Given the description of an element on the screen output the (x, y) to click on. 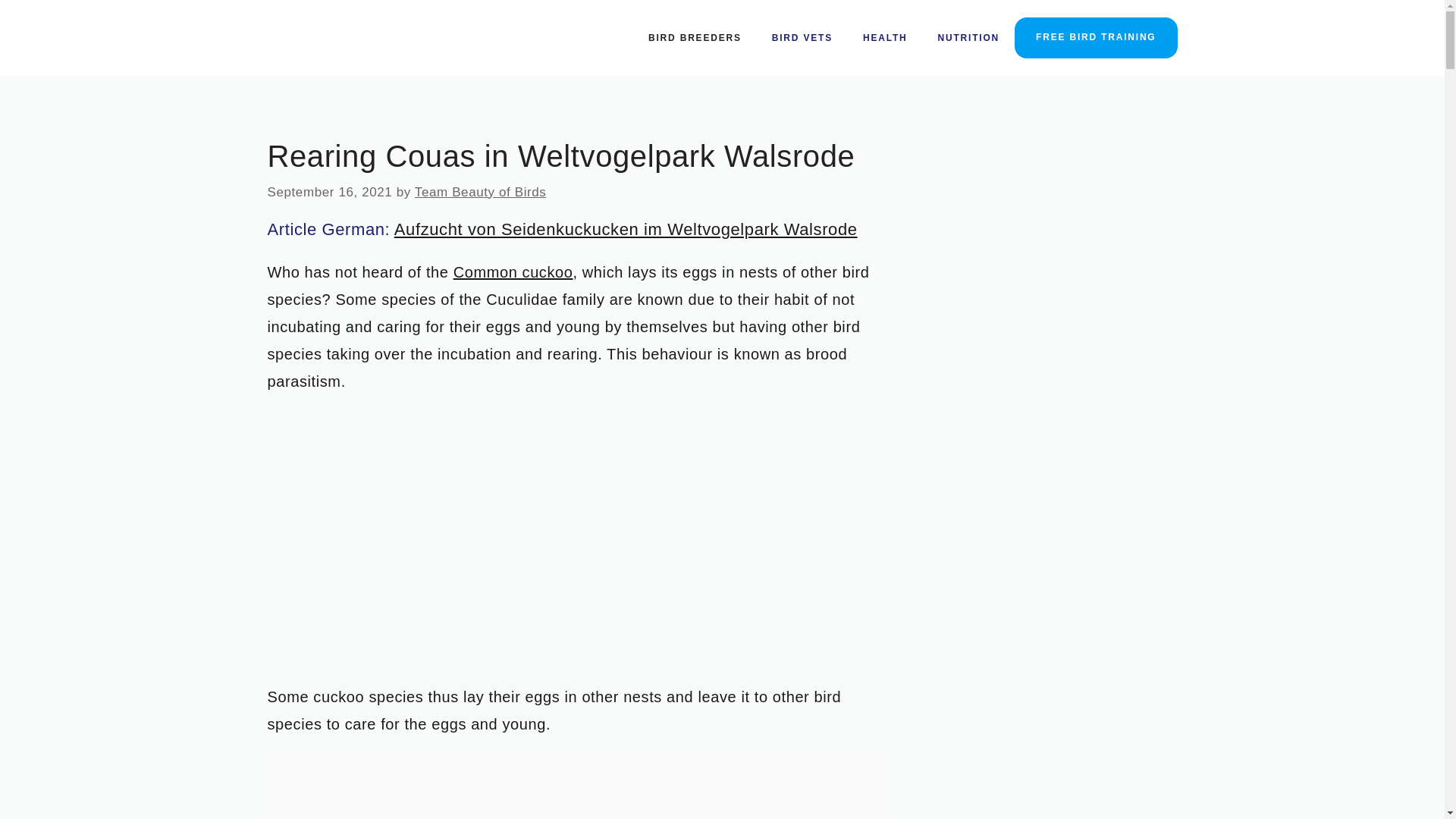
BIRD BREEDERS (695, 37)
NUTRITION (968, 37)
Aufzucht von Seidenkuckucken im Weltvogelpark Walsrode (625, 229)
BIRD VETS (802, 37)
Team Beauty of Birds (480, 192)
FREE BIRD TRAINING (1095, 37)
Common cuckoo (512, 271)
View all posts by Team Beauty of Birds (480, 192)
HEALTH (885, 37)
